Given the description of an element on the screen output the (x, y) to click on. 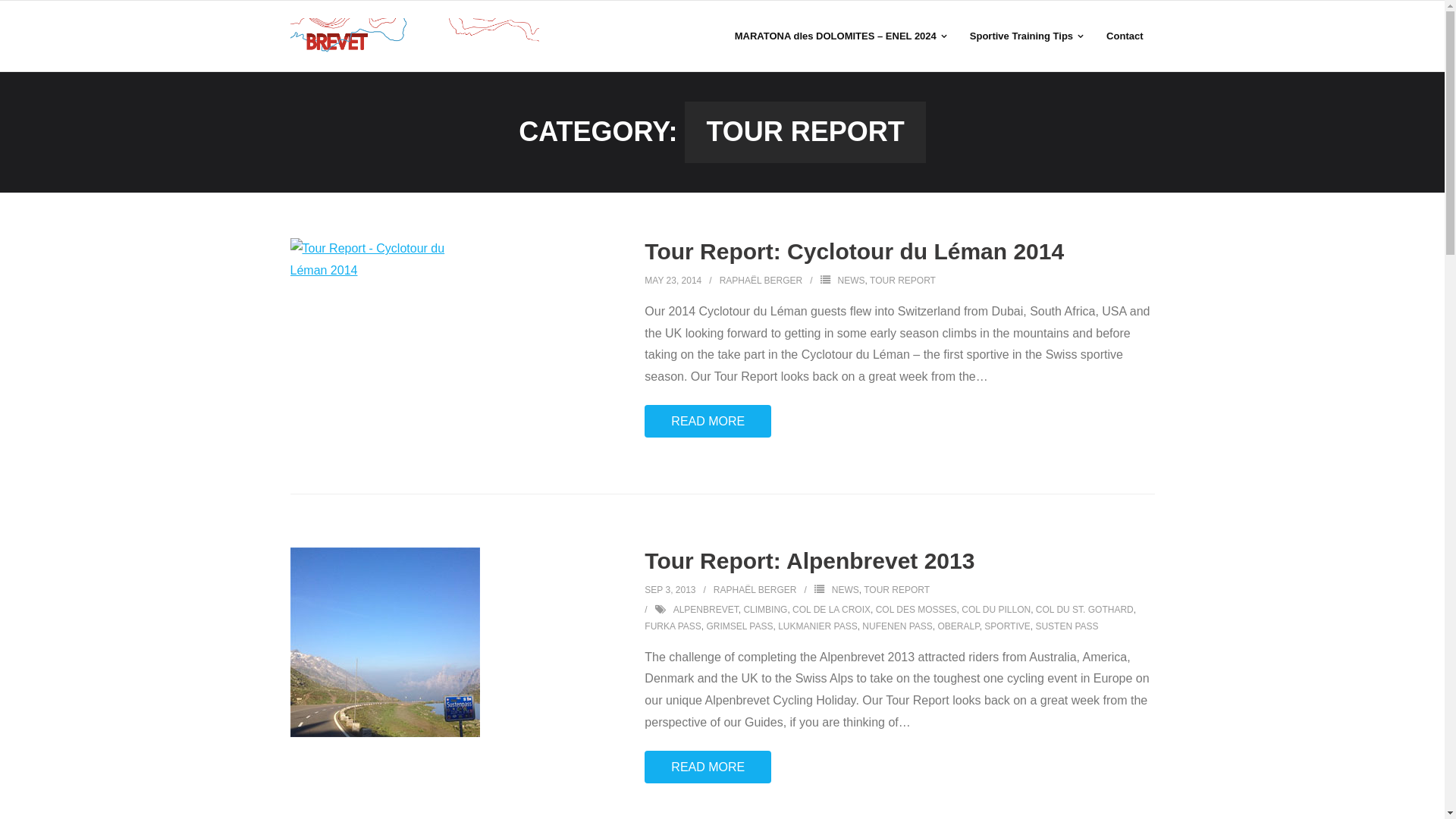
GRIMSEL PASS Element type: text (739, 626)
NEWS Element type: text (845, 589)
Tour Report: Alpenbrevet 2013 Element type: text (809, 560)
FURKA PASS Element type: text (672, 626)
Sportive Training Tips Element type: text (1026, 35)
READ MORE Element type: text (707, 766)
COL DU ST. GOTHARD Element type: text (1084, 609)
MAY 23, 2014 Element type: text (672, 280)
TOUR REPORT Element type: text (896, 589)
COL DE LA CROIX Element type: text (831, 609)
READ MORE Element type: text (707, 420)
COL DU PILLON Element type: text (995, 609)
TOUR REPORT Element type: text (902, 280)
NEWS Element type: text (851, 280)
Contact Element type: text (1124, 35)
NUFENEN PASS Element type: text (896, 626)
SUSTEN PASS Element type: text (1066, 626)
SEP 3, 2013 Element type: text (669, 589)
CLIMBING Element type: text (765, 609)
SPORTIVE Element type: text (1006, 626)
ALPENBREVET Element type: text (705, 609)
OBERALP Element type: text (958, 626)
LUKMANIER PASS Element type: text (817, 626)
COL DES MOSSES Element type: text (916, 609)
